Given the description of an element on the screen output the (x, y) to click on. 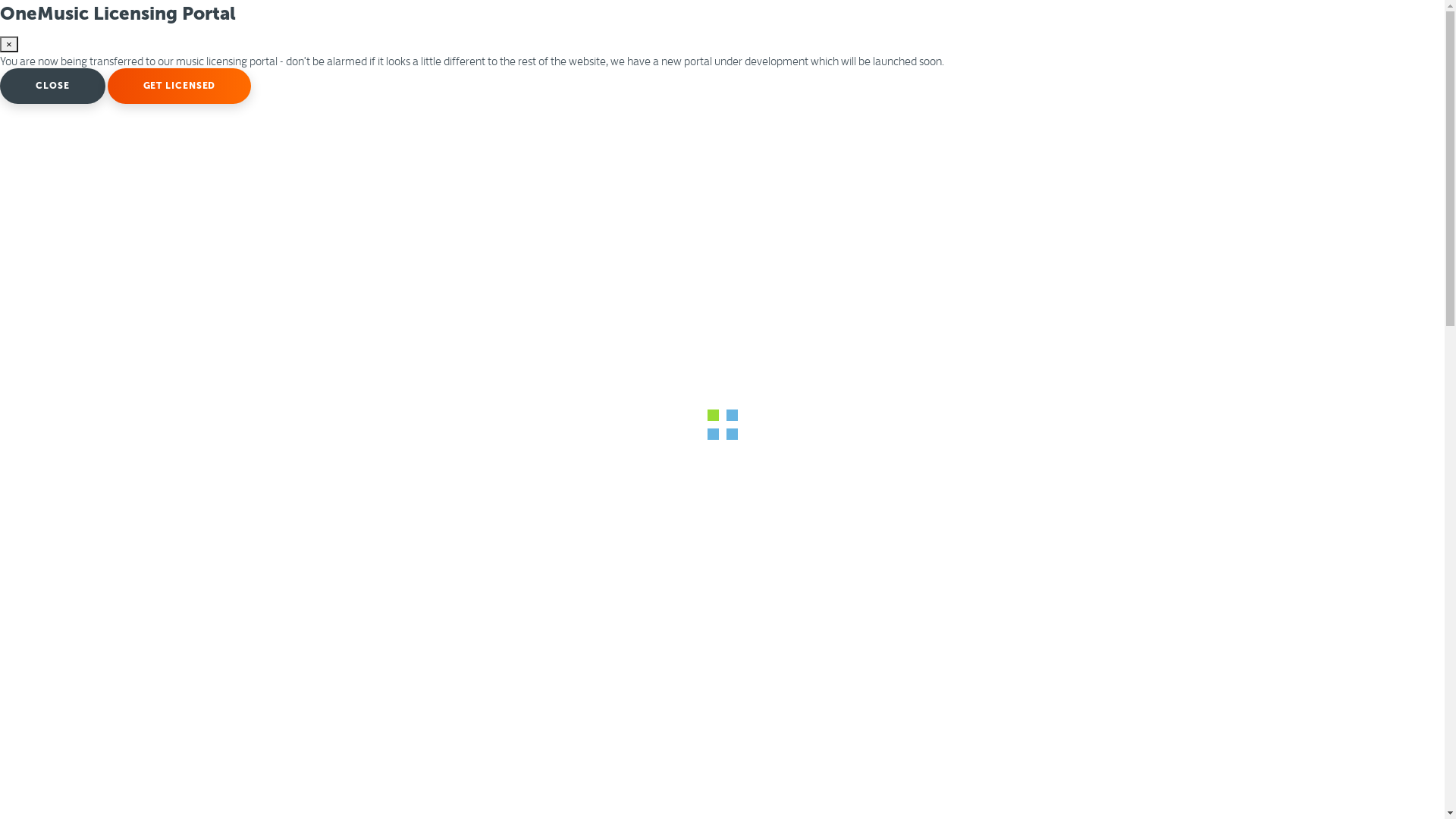
GET LICENSED Element type: text (179, 85)
CLOSE Element type: text (52, 85)
